Given the description of an element on the screen output the (x, y) to click on. 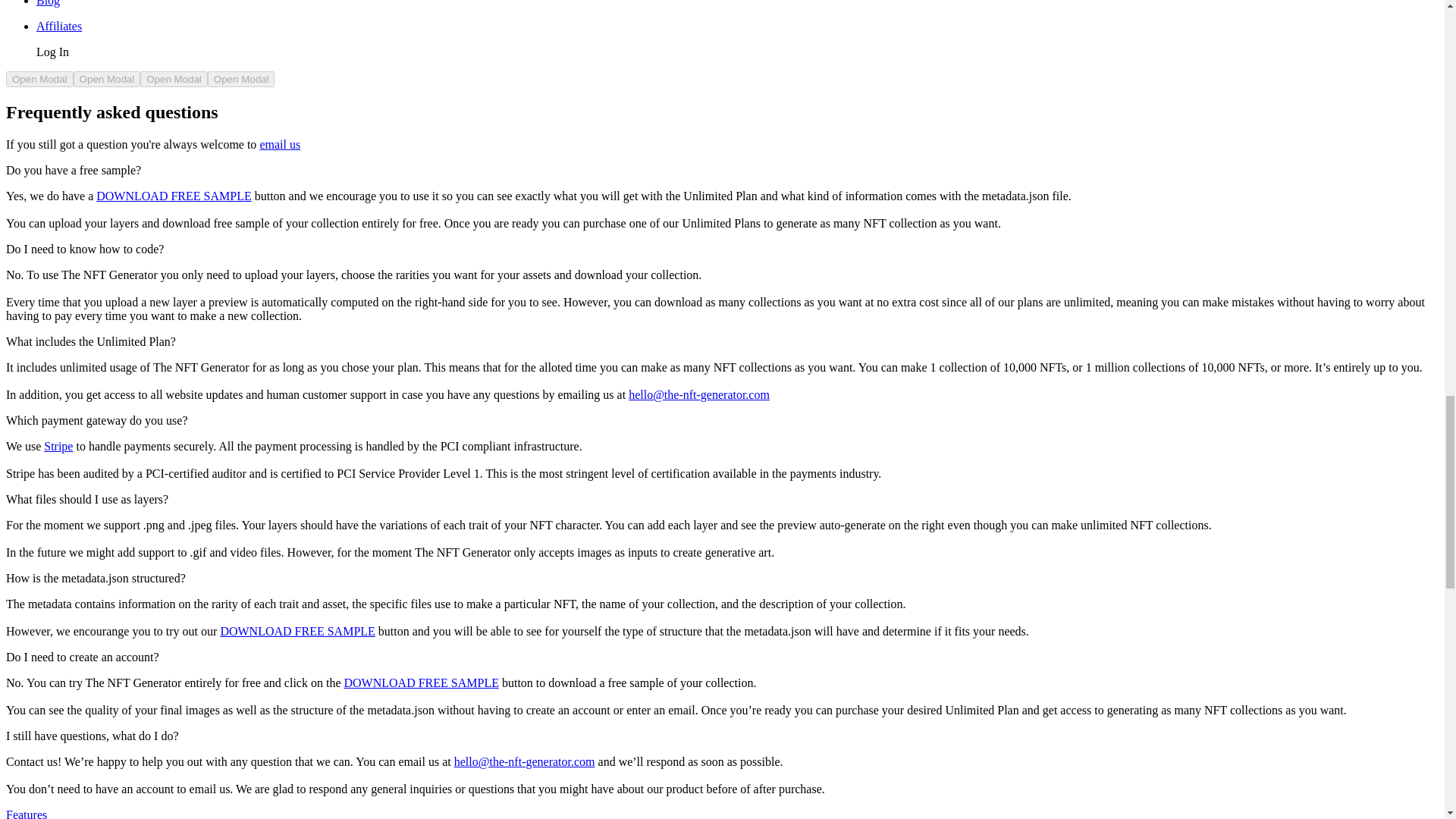
DOWNLOAD FREE SAMPLE (421, 682)
Open Modal (107, 78)
Open Modal (173, 78)
Stripe (57, 445)
DOWNLOAD FREE SAMPLE (296, 631)
Open Modal (241, 78)
email us (279, 144)
Open Modal (39, 78)
DOWNLOAD FREE SAMPLE (173, 195)
